Given the description of an element on the screen output the (x, y) to click on. 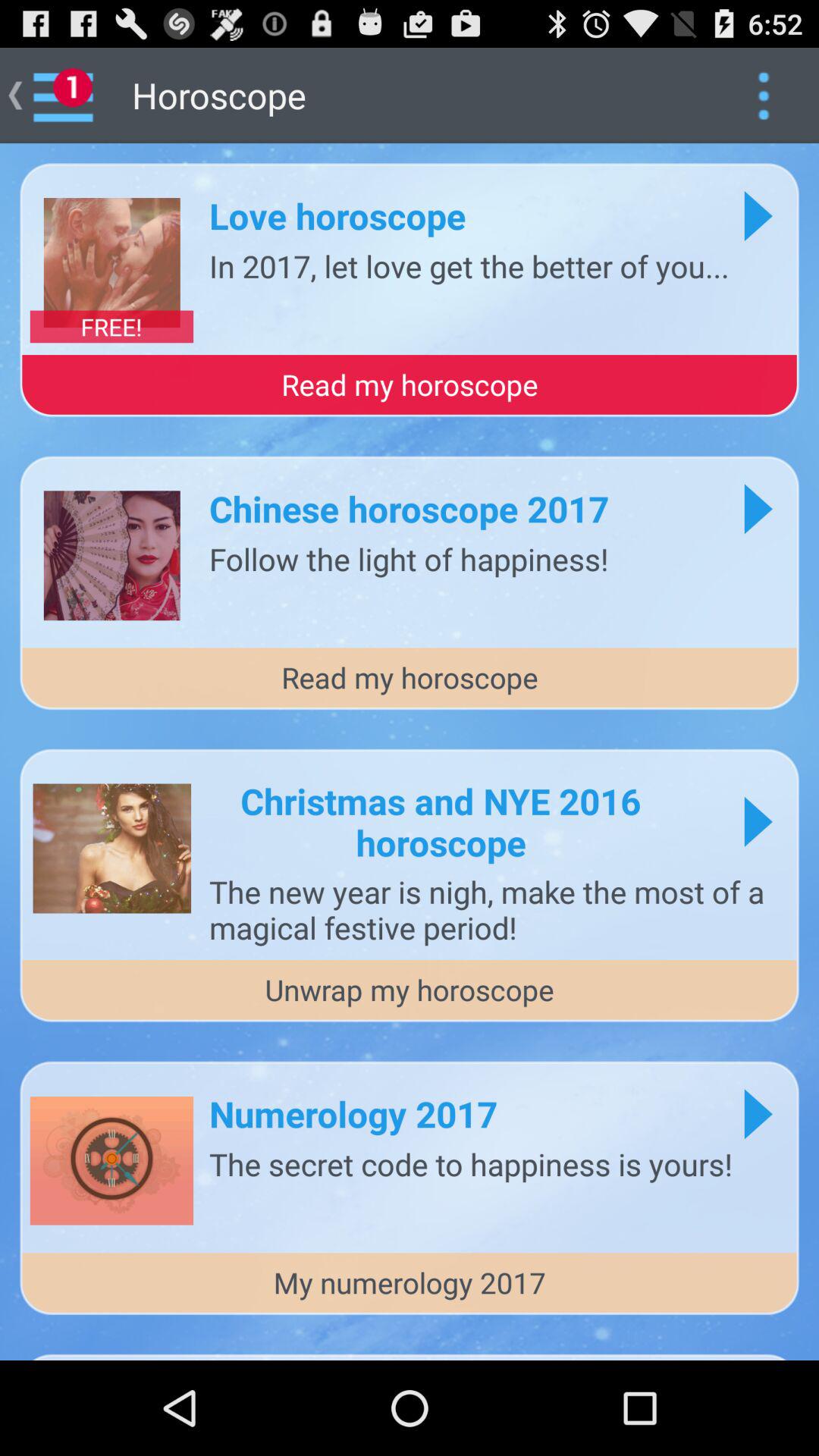
open the secret code icon (470, 1163)
